Given the description of an element on the screen output the (x, y) to click on. 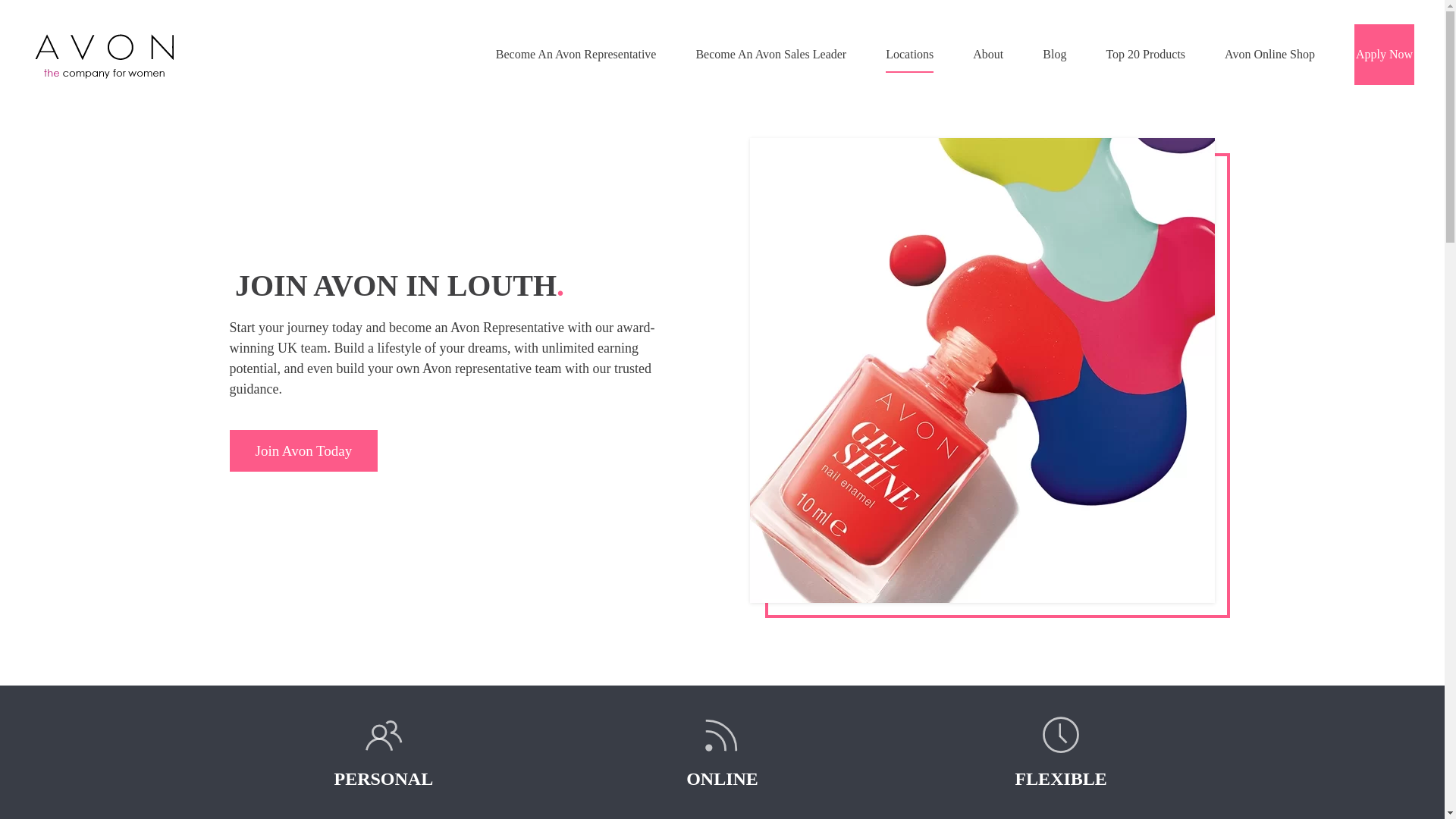
Explore (302, 450)
Join Avon Today (461, 450)
Become An Avon Sales Leader (770, 54)
Top 20 Products (1145, 54)
Become An Avon Representative (576, 54)
JOIN AVON IN LOUTH. (462, 285)
